Given the description of an element on the screen output the (x, y) to click on. 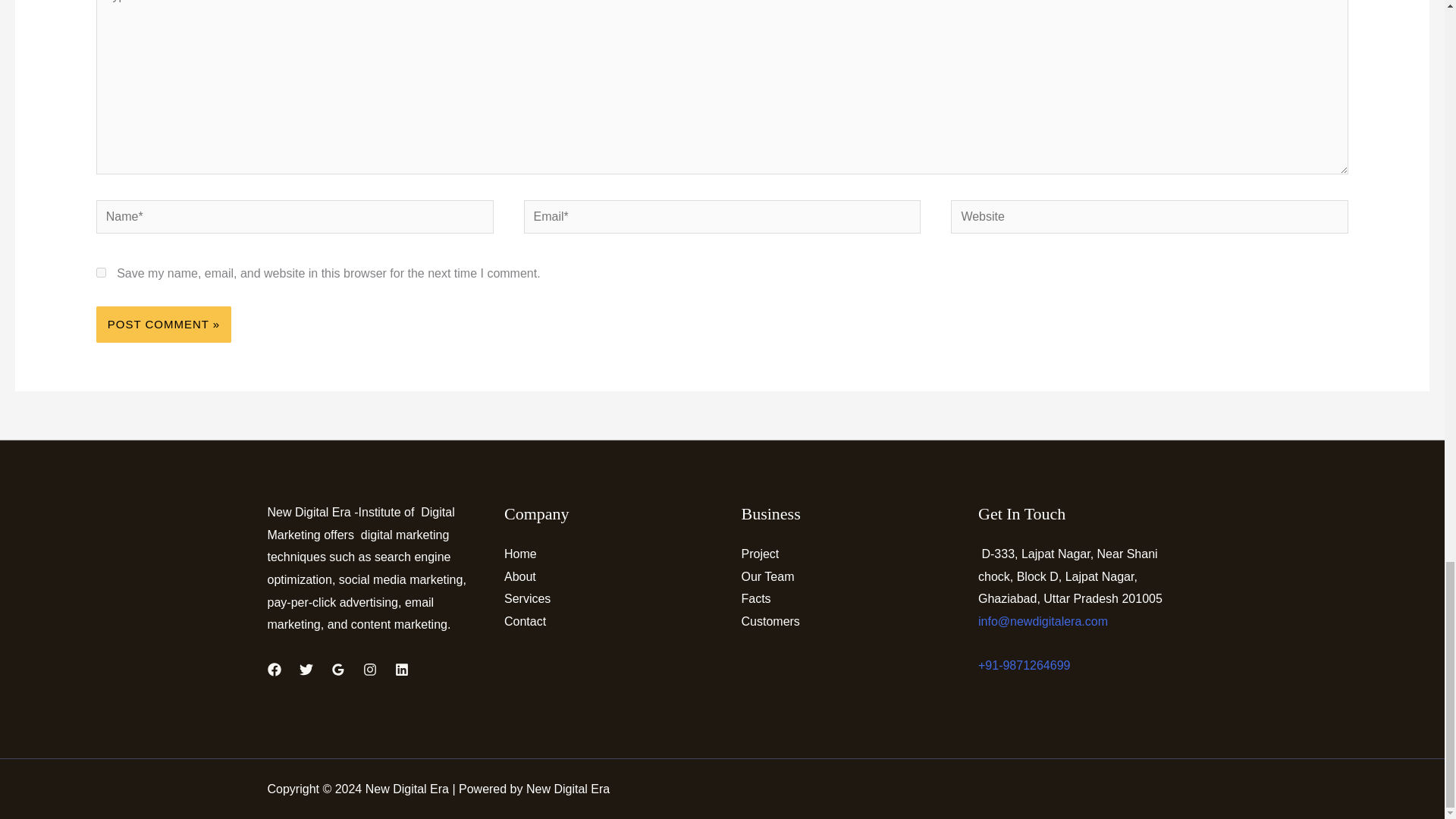
Services (526, 598)
yes (101, 272)
Facts (756, 598)
Our Team (767, 576)
Contact (524, 621)
About (519, 576)
Home (520, 553)
Customers (770, 621)
Project (759, 553)
